Given the description of an element on the screen output the (x, y) to click on. 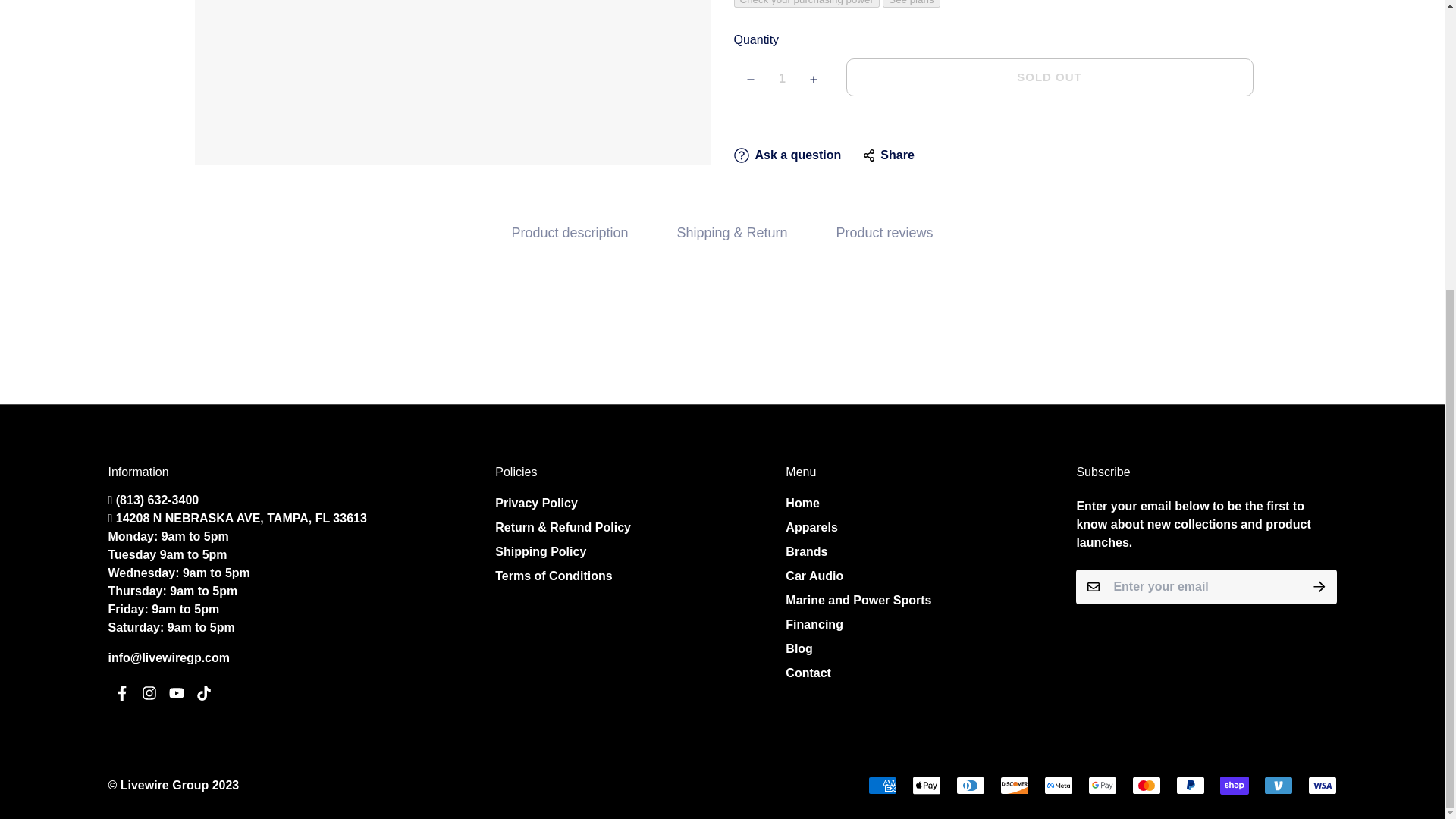
American Express (881, 785)
1 (782, 78)
1 (1066, 403)
